Given the description of an element on the screen output the (x, y) to click on. 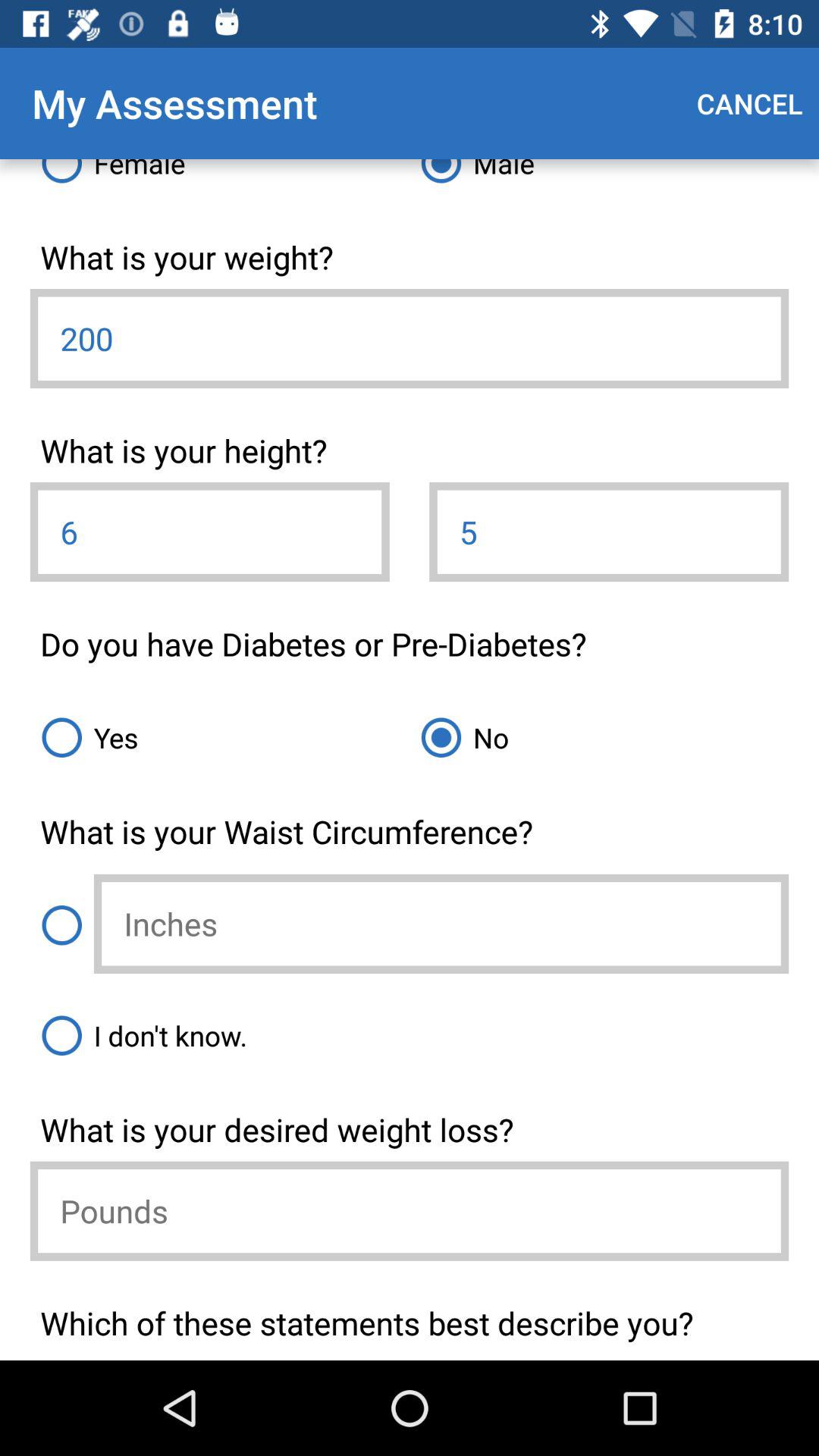
pick this to enter inches (61, 925)
